Given the description of an element on the screen output the (x, y) to click on. 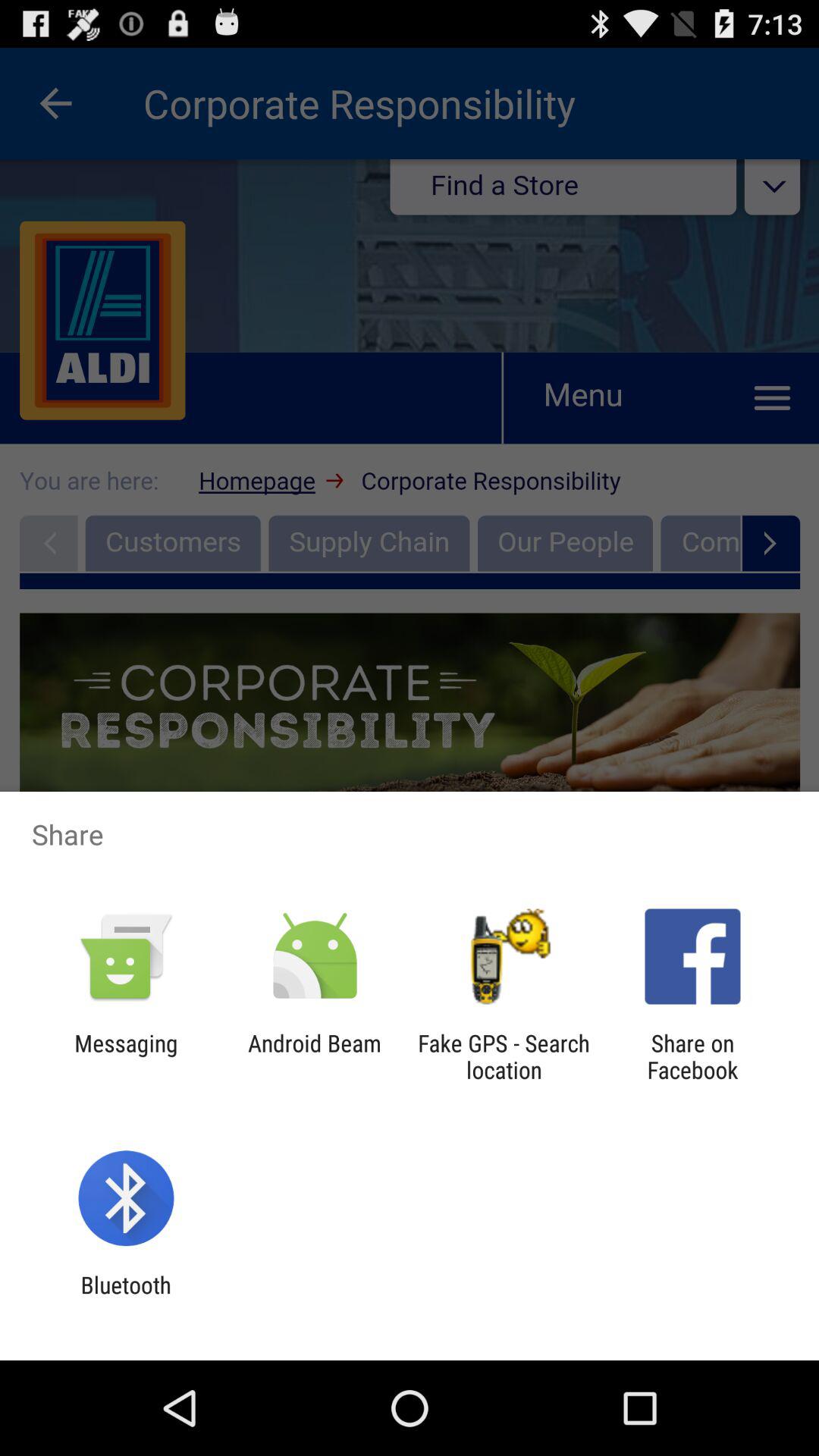
select icon at the bottom right corner (692, 1056)
